Given the description of an element on the screen output the (x, y) to click on. 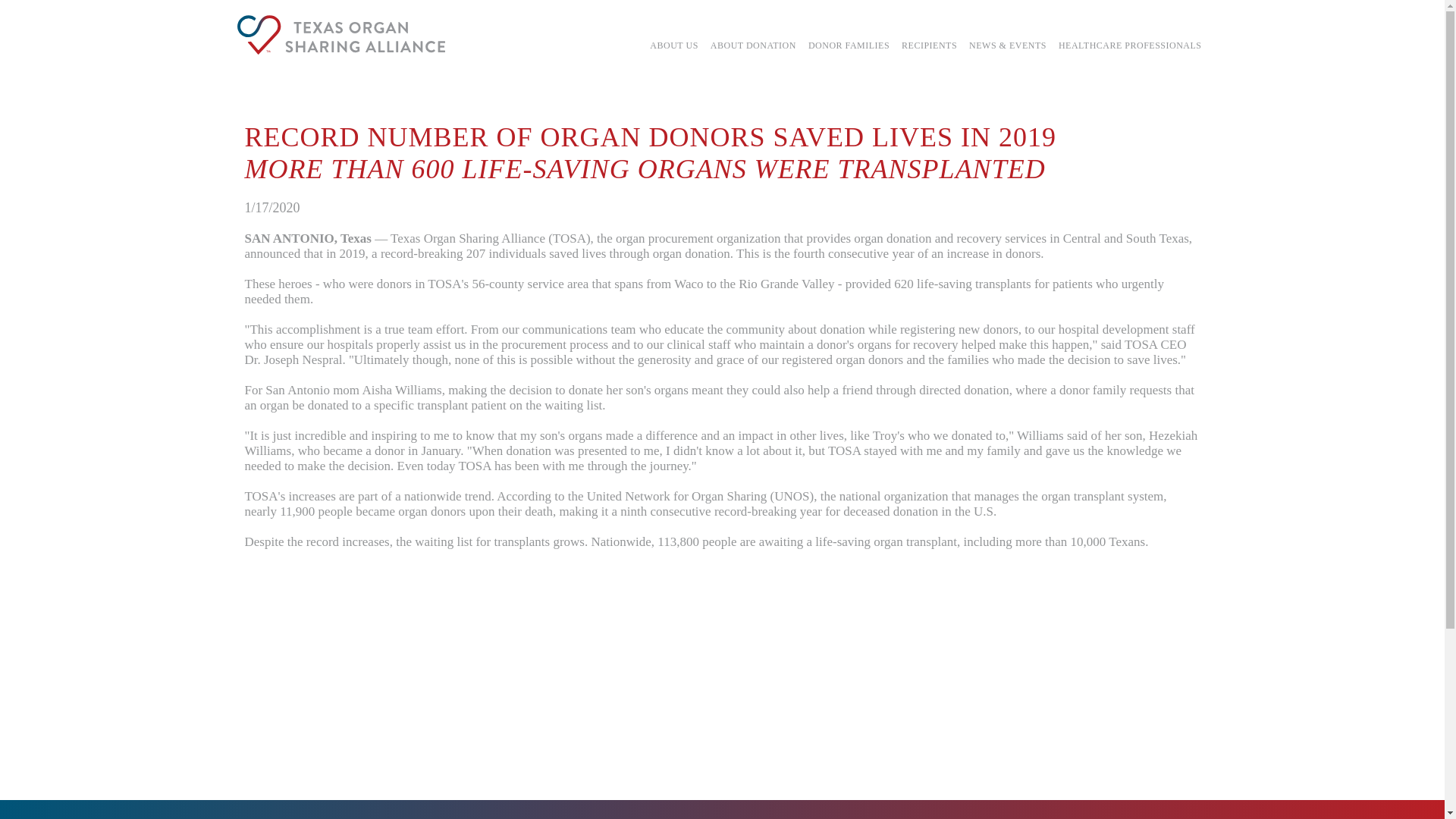
ABOUT US (673, 45)
DONOR FAMILIES (848, 45)
RECIPIENTS (928, 45)
ABOUT DONATION (753, 45)
HEALTHCARE PROFESSIONALS (1130, 45)
